Given the description of an element on the screen output the (x, y) to click on. 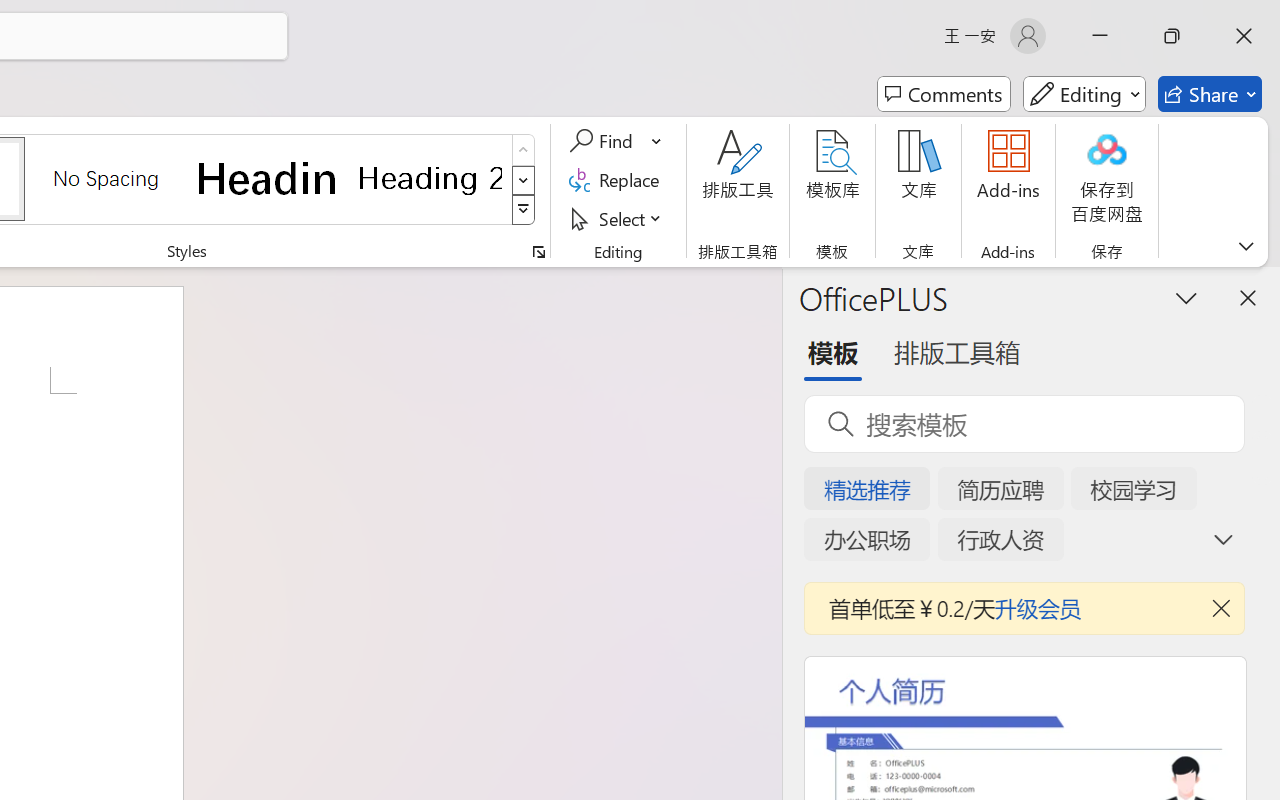
Row Down (523, 180)
Restore Down (1172, 36)
Row up (523, 150)
Styles (523, 209)
Ribbon Display Options (1246, 245)
Class: NetUIImage (523, 210)
Task Pane Options (1186, 297)
